Given the description of an element on the screen output the (x, y) to click on. 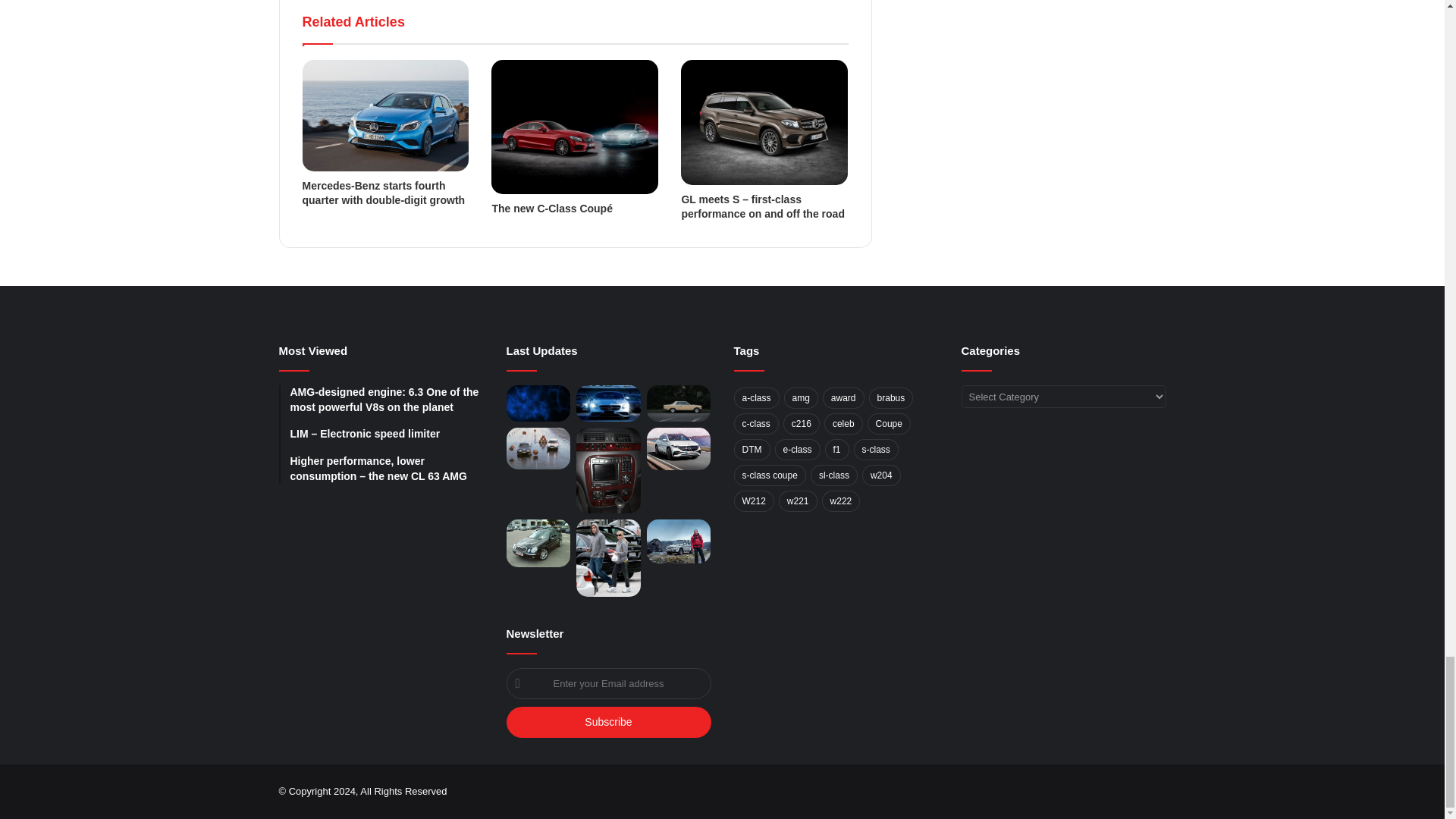
Subscribe (608, 721)
